Given the description of an element on the screen output the (x, y) to click on. 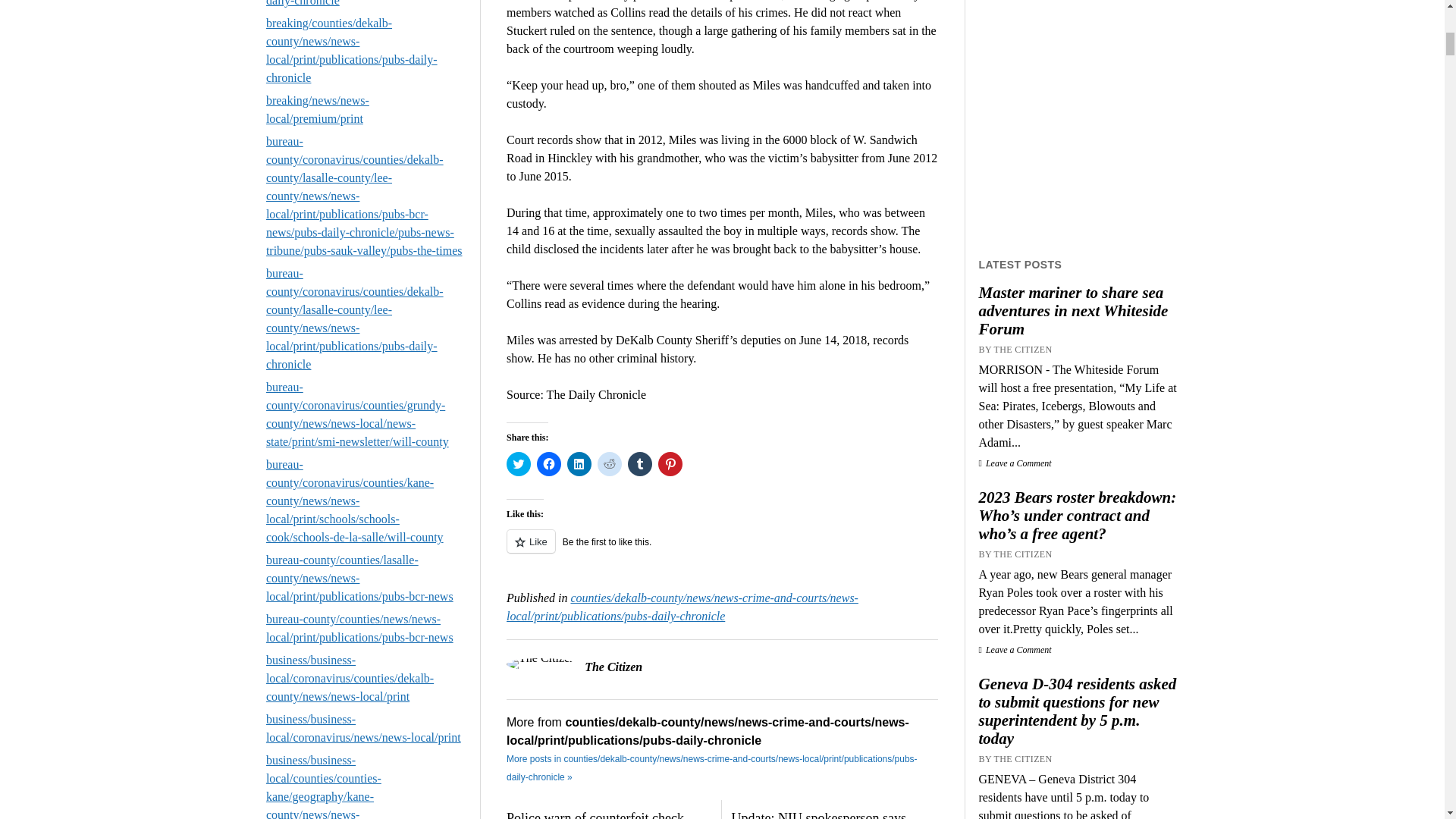
Click to share on Reddit (608, 463)
Click to share on LinkedIn (579, 463)
Click to share on Tumblr (639, 463)
Click to share on Pinterest (670, 463)
Like or Reblog (721, 549)
Click to share on Facebook (548, 463)
Click to share on Twitter (518, 463)
